Given the description of an element on the screen output the (x, y) to click on. 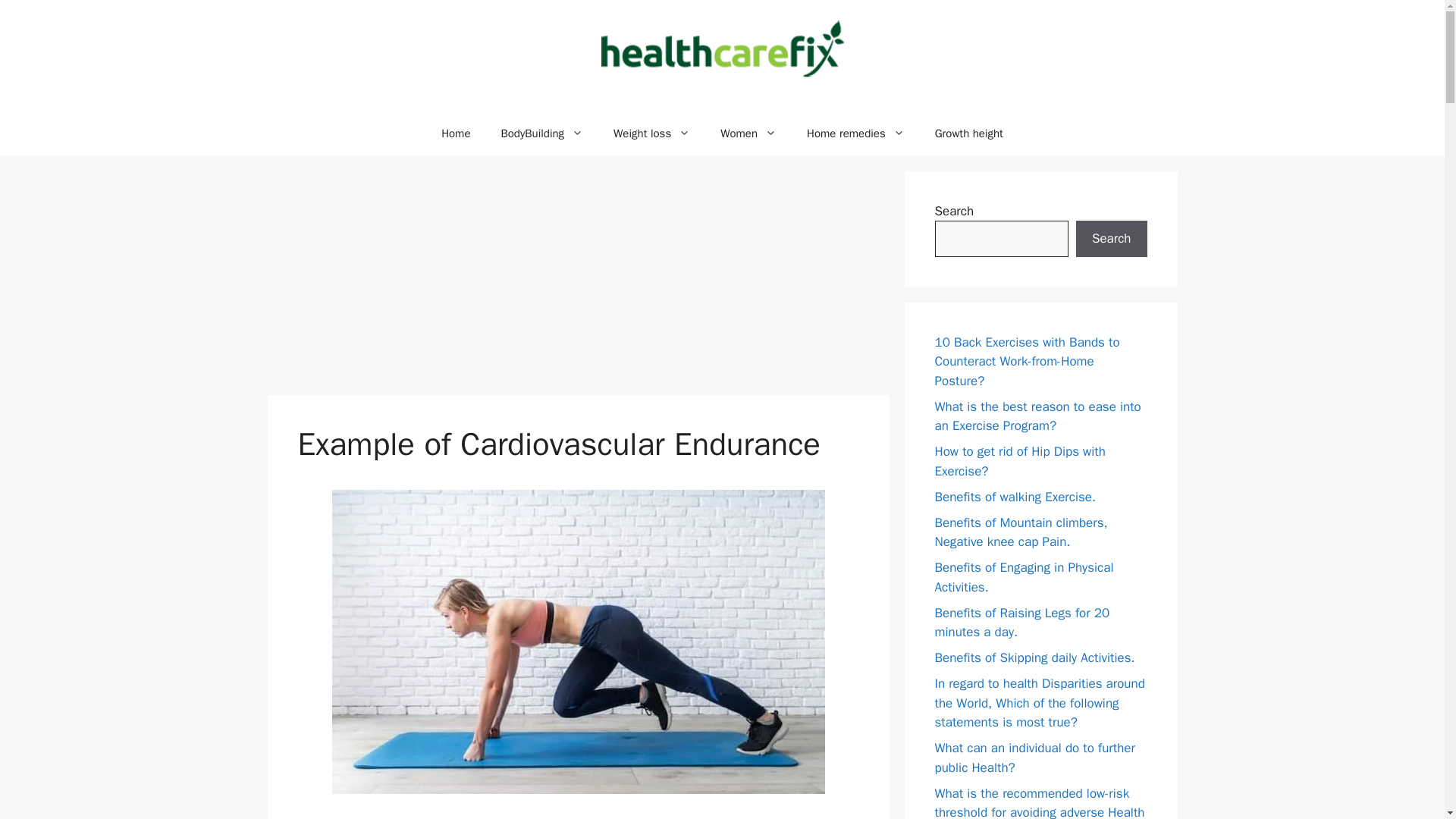
BodyBuilding (541, 133)
Home remedies (856, 133)
Women (748, 133)
Home (455, 133)
Growth height (968, 133)
Advertisement (576, 277)
Weight loss (651, 133)
